Given the description of an element on the screen output the (x, y) to click on. 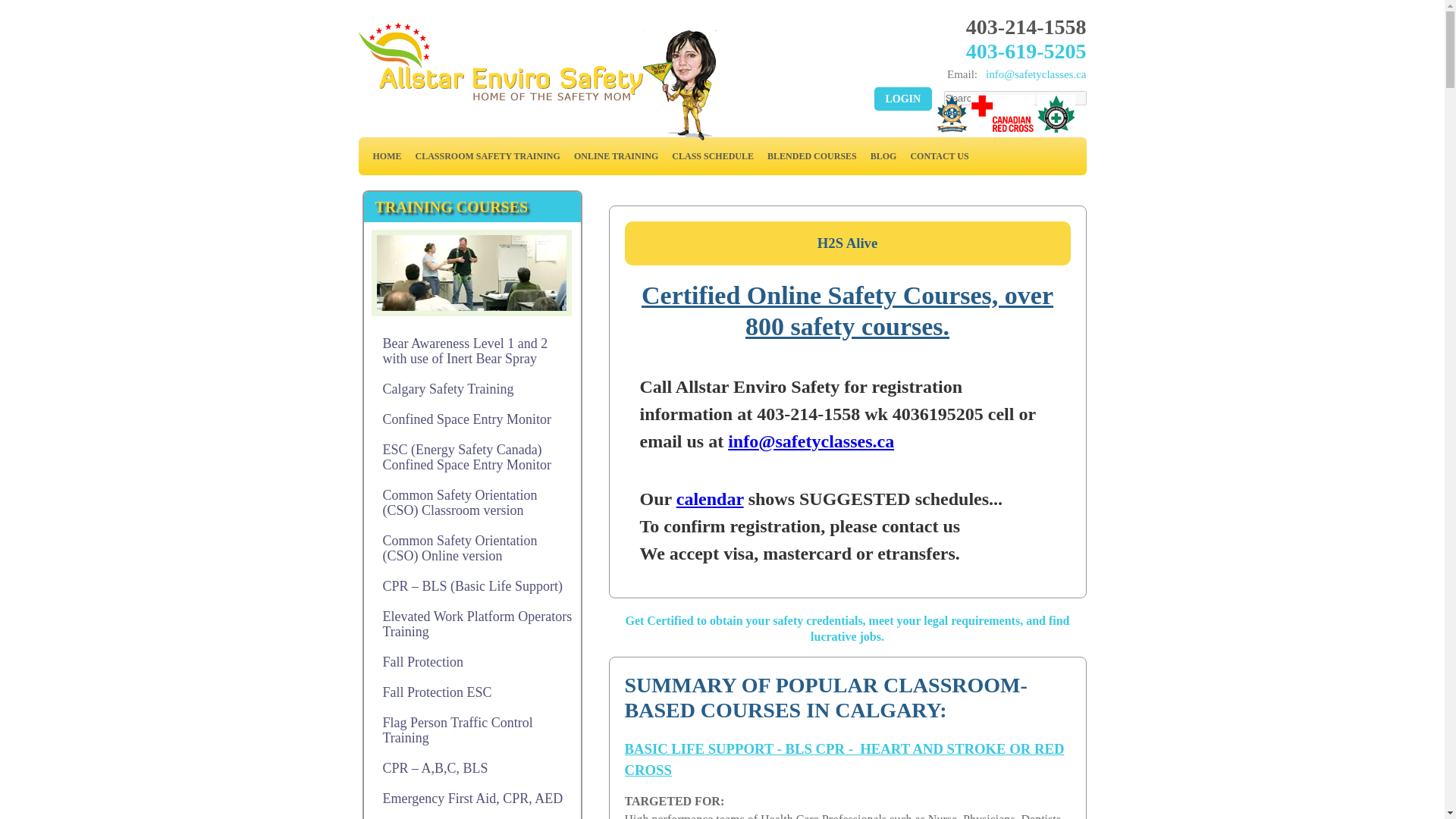
HOME (386, 155)
CLASSROOM SAFETY TRAINING (486, 155)
CLASS SCHEDULE (712, 155)
CONTACT US (938, 155)
ONLINE TRAINING (616, 155)
LOGIN (902, 98)
BLENDED COURSES (811, 155)
BLOG (883, 155)
